Given the description of an element on the screen output the (x, y) to click on. 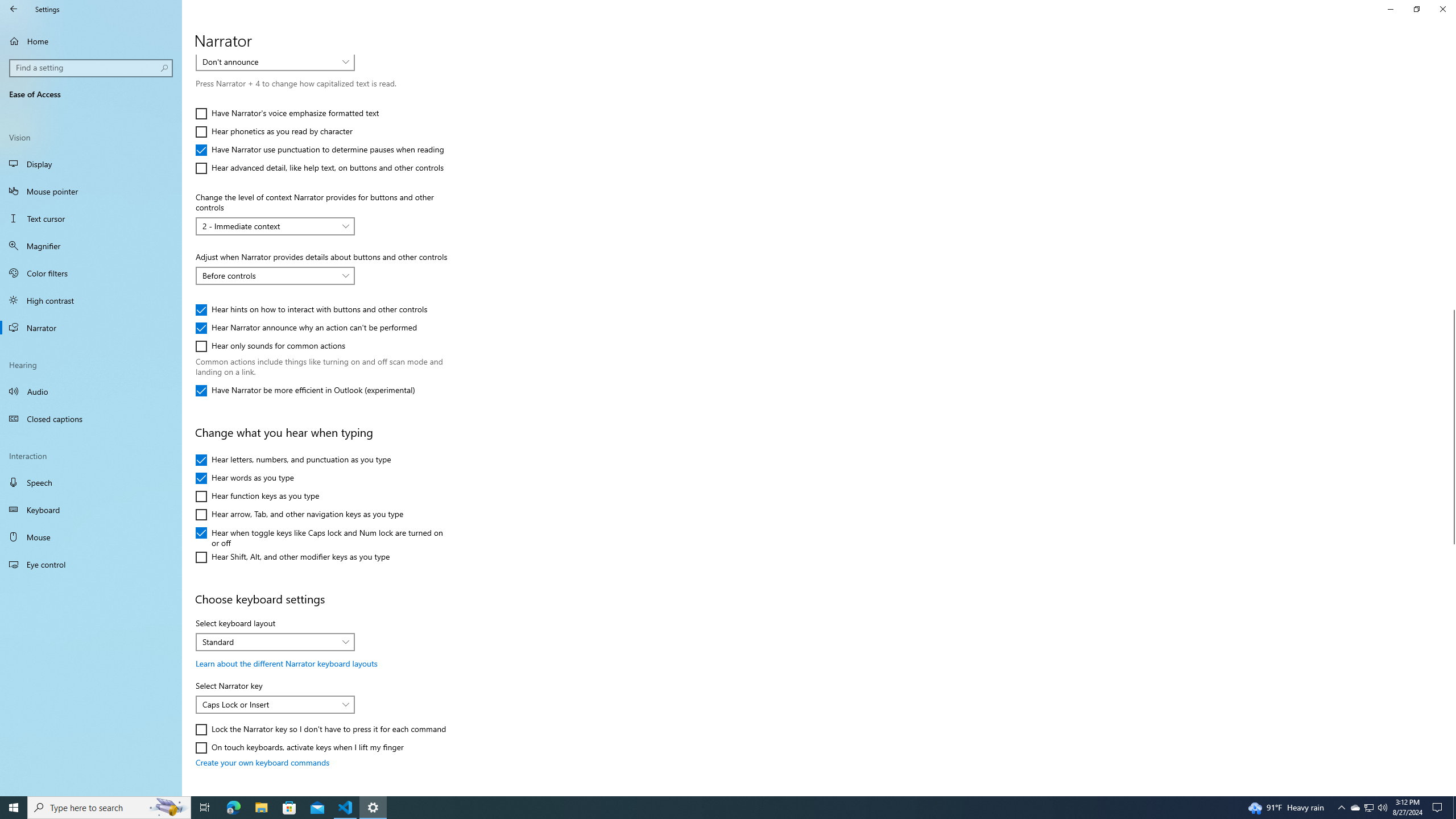
Select Narrator key (275, 704)
Change how capitalized text is read (275, 62)
Select keyboard layout (275, 642)
Hear function keys as you type (257, 496)
Learn about the different Narrator keyboard layouts (286, 663)
Vertical Large Increase (1451, 665)
Hear phonetics as you read by character (273, 131)
Display (91, 163)
